Given the description of an element on the screen output the (x, y) to click on. 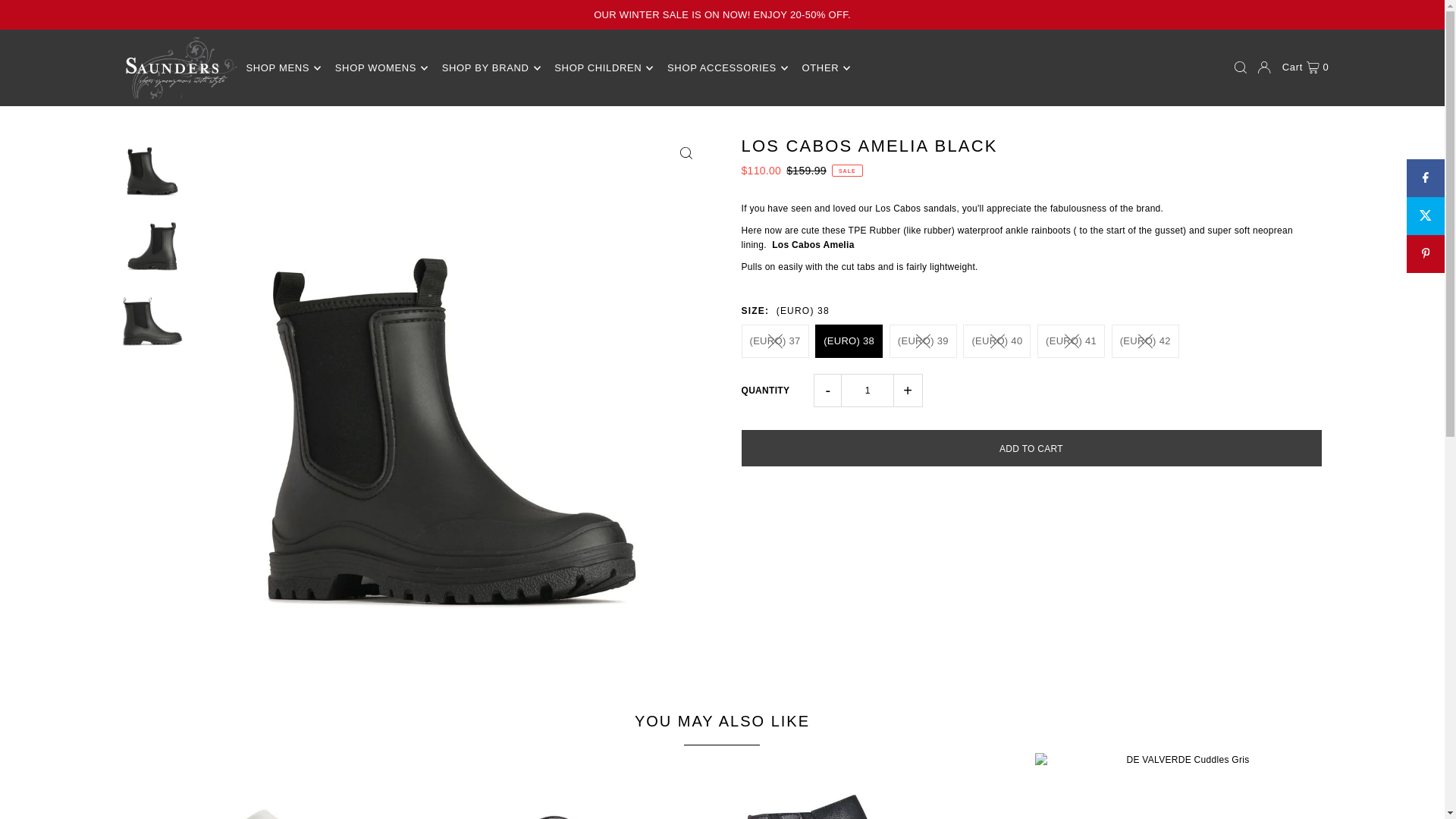
Cart (1305, 67)
1 (867, 390)
SHOP MENS (283, 67)
Click to zoom (685, 153)
Add to Cart (1031, 447)
